Given the description of an element on the screen output the (x, y) to click on. 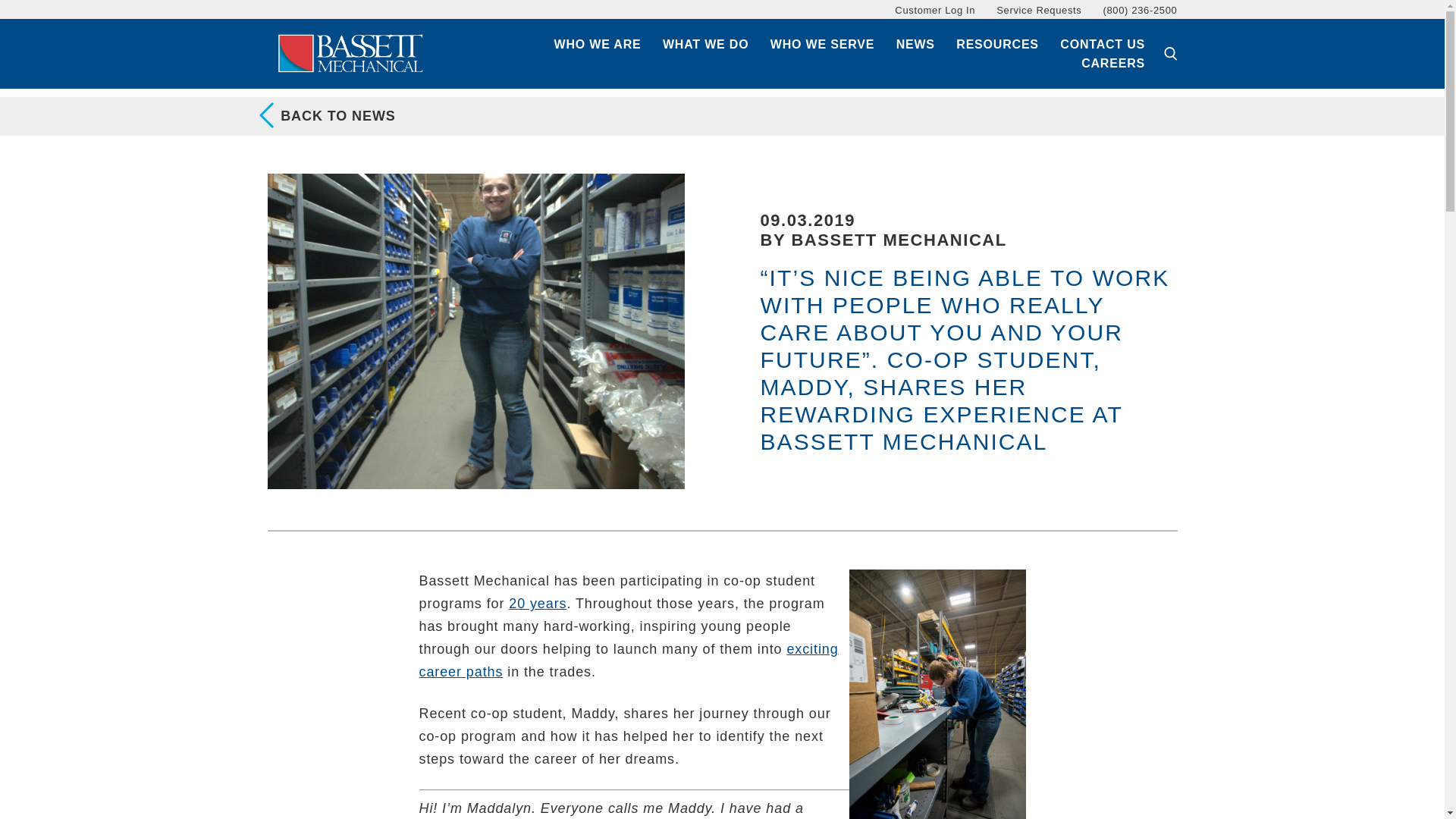
home (349, 53)
WHO WE ARE (598, 44)
WHAT WE DO (705, 44)
Customer Log In (935, 9)
Service Requests (1038, 9)
